Given the description of an element on the screen output the (x, y) to click on. 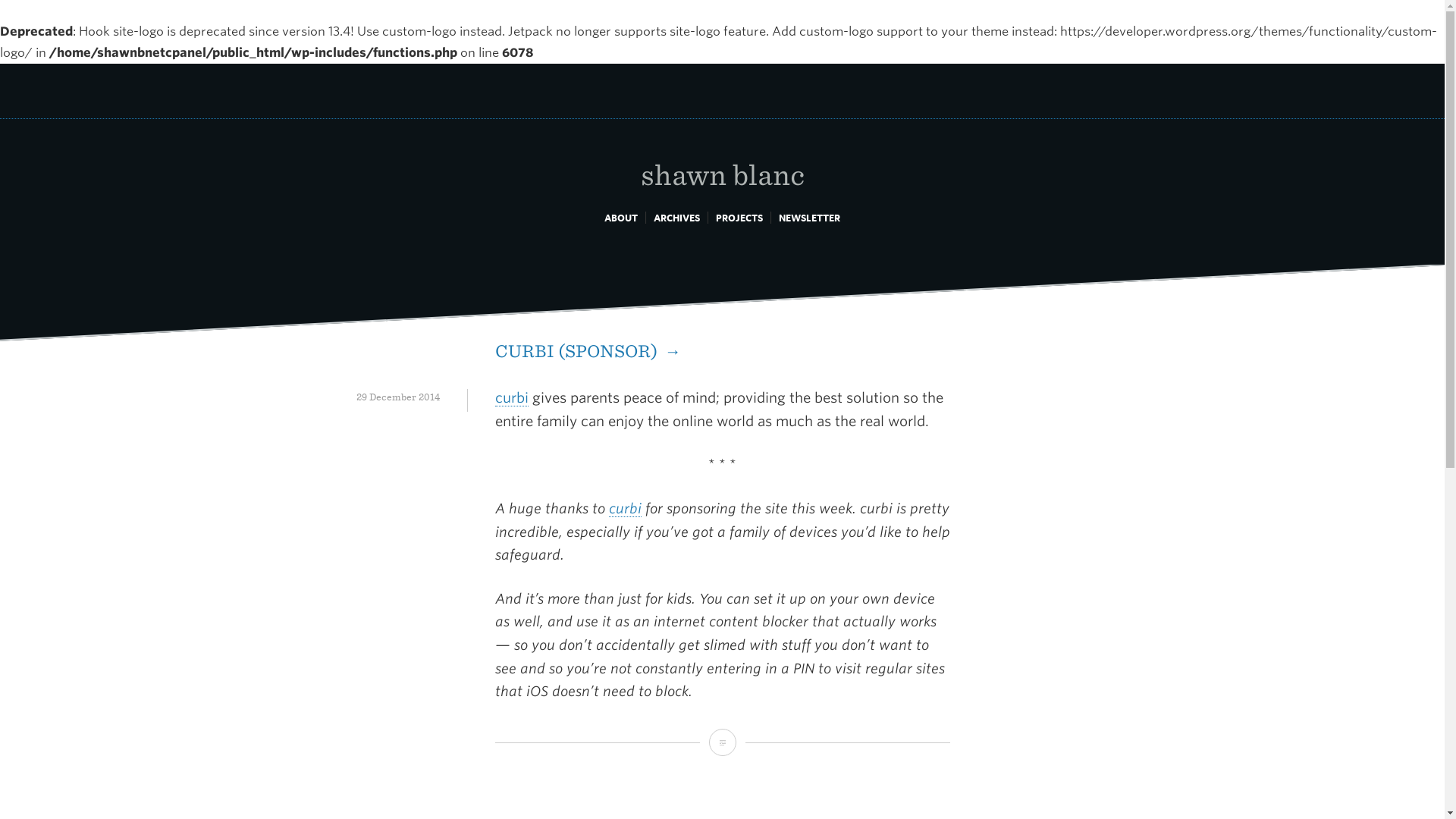
ABOUT (620, 217)
shawn blanc (721, 157)
PROJECTS (739, 217)
NEWSLETTER (809, 217)
ARCHIVES (676, 217)
29 December 2014 (397, 396)
curbi (511, 397)
curbi (624, 508)
